Given the description of an element on the screen output the (x, y) to click on. 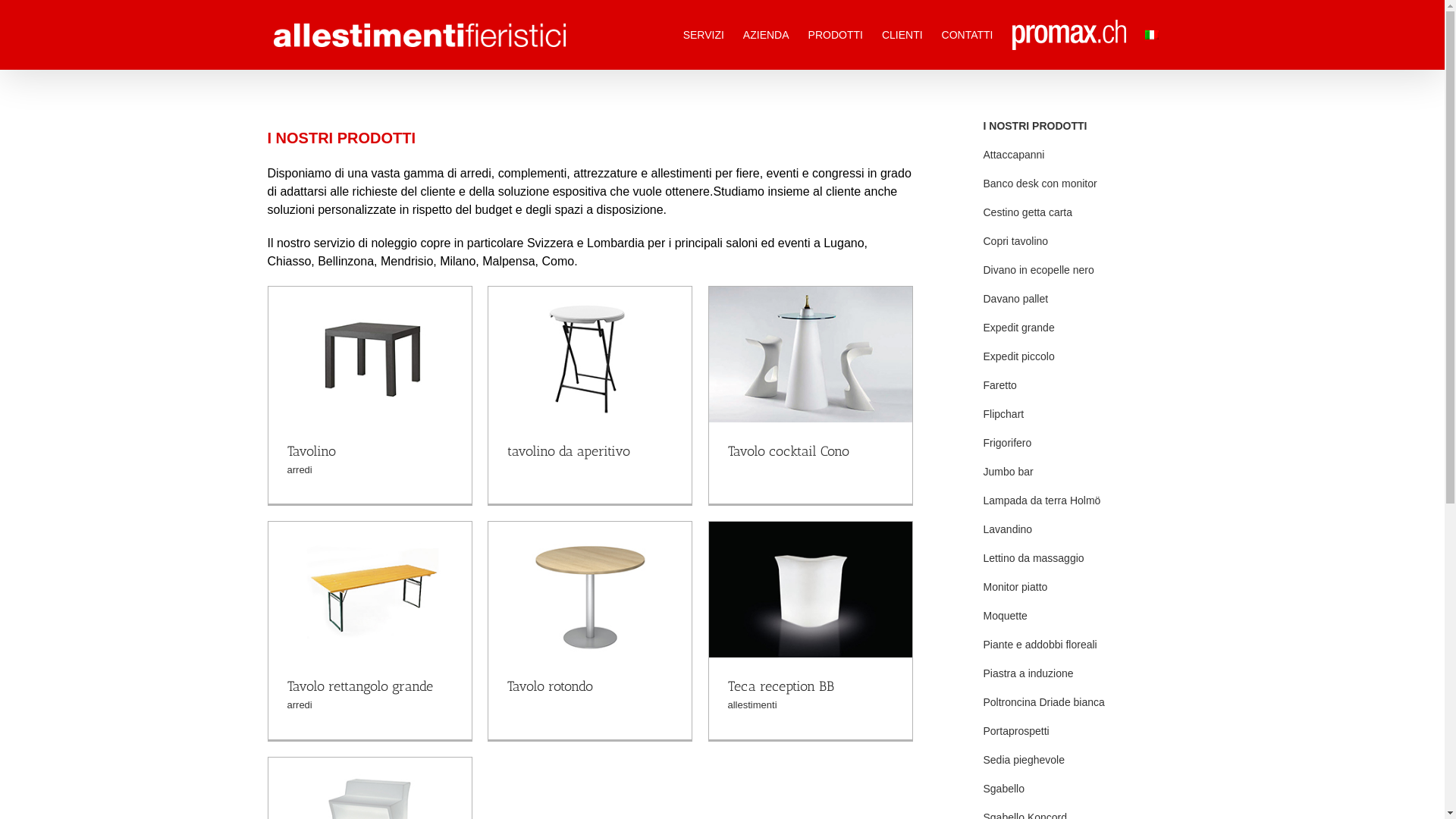
Copri tavolino Element type: text (1071, 241)
I NOSTRI PRODOTTI Element type: text (1071, 126)
Lettino da massaggio Element type: text (1071, 558)
Tavolo cocktail Cono Element type: text (788, 450)
Attaccapanni Element type: text (1071, 155)
Tavolo rettangolo grande Element type: text (359, 685)
Teca reception BB Element type: text (781, 685)
arredi Element type: text (298, 704)
Portaprospetti Element type: text (1071, 731)
allestimenti Element type: text (752, 704)
Monitor piatto Element type: text (1071, 587)
Tavolino Element type: text (310, 450)
Tavolo rotondo Element type: text (549, 685)
Frigorifero Element type: text (1071, 443)
Piastra a induzione Element type: text (1071, 673)
CLIENTI Element type: text (901, 34)
Poltroncina Driade bianca Element type: text (1071, 702)
Expedit grande Element type: text (1071, 327)
CONTATTI Element type: text (967, 34)
Cestino getta carta Element type: text (1071, 212)
Flipchart Element type: text (1071, 414)
AZIENDA Element type: text (766, 34)
tavolino da aperitivo Element type: text (567, 450)
PRODOTTI Element type: text (835, 34)
Piante e addobbi floreali Element type: text (1071, 644)
Expedit piccolo Element type: text (1071, 356)
Divano in ecopelle nero Element type: text (1071, 270)
Faretto Element type: text (1071, 385)
Banco desk con monitor Element type: text (1071, 183)
arredi Element type: text (298, 469)
Moquette Element type: text (1071, 616)
SERVIZI Element type: text (703, 34)
Davano pallet Element type: text (1071, 299)
Lavandino Element type: text (1071, 529)
Sgabello Element type: text (1071, 789)
Sedia pieghevole Element type: text (1071, 760)
Jumbo bar Element type: text (1071, 472)
